Given the description of an element on the screen output the (x, y) to click on. 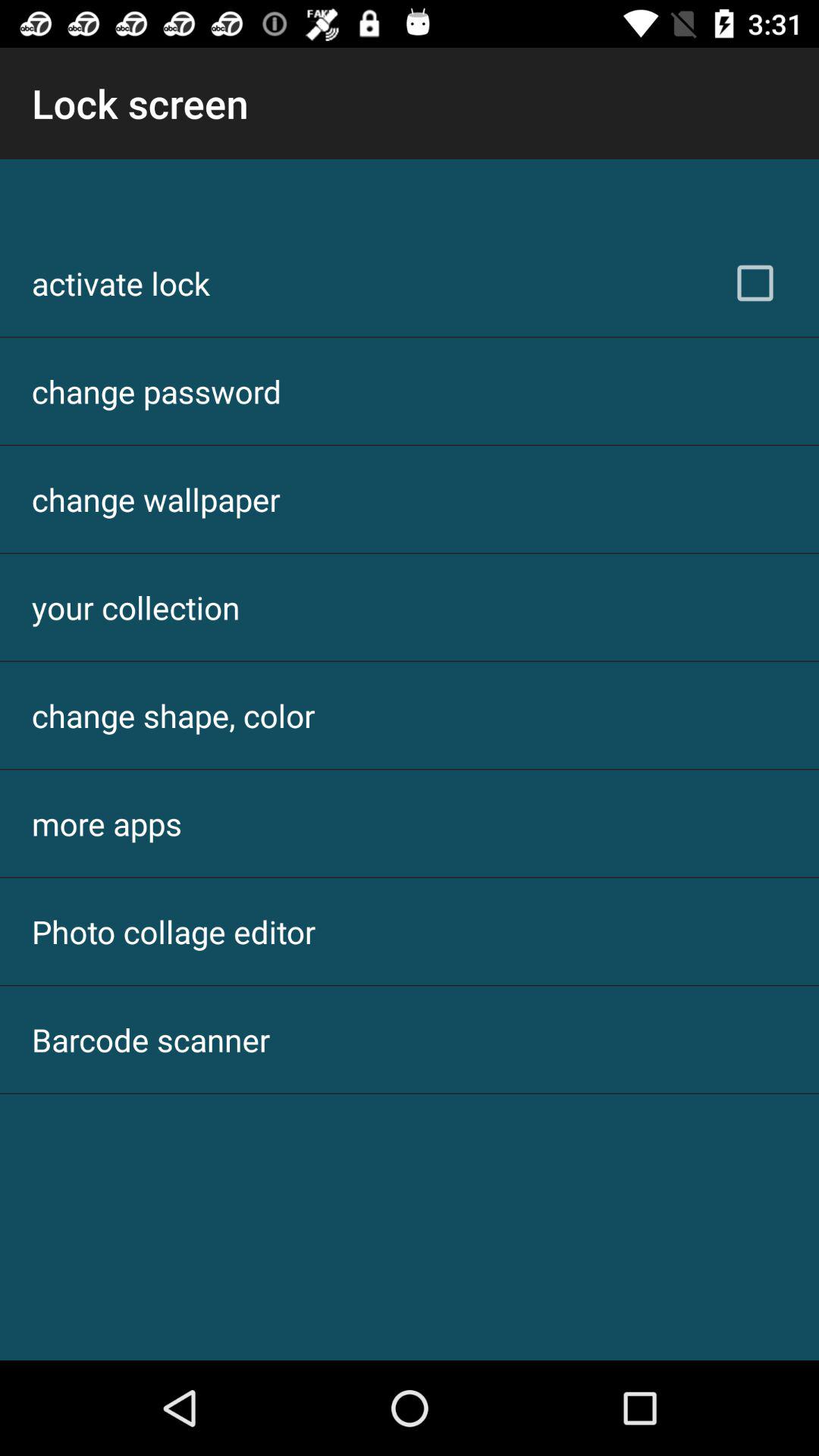
turn off the change shape, color icon (173, 715)
